Given the description of an element on the screen output the (x, y) to click on. 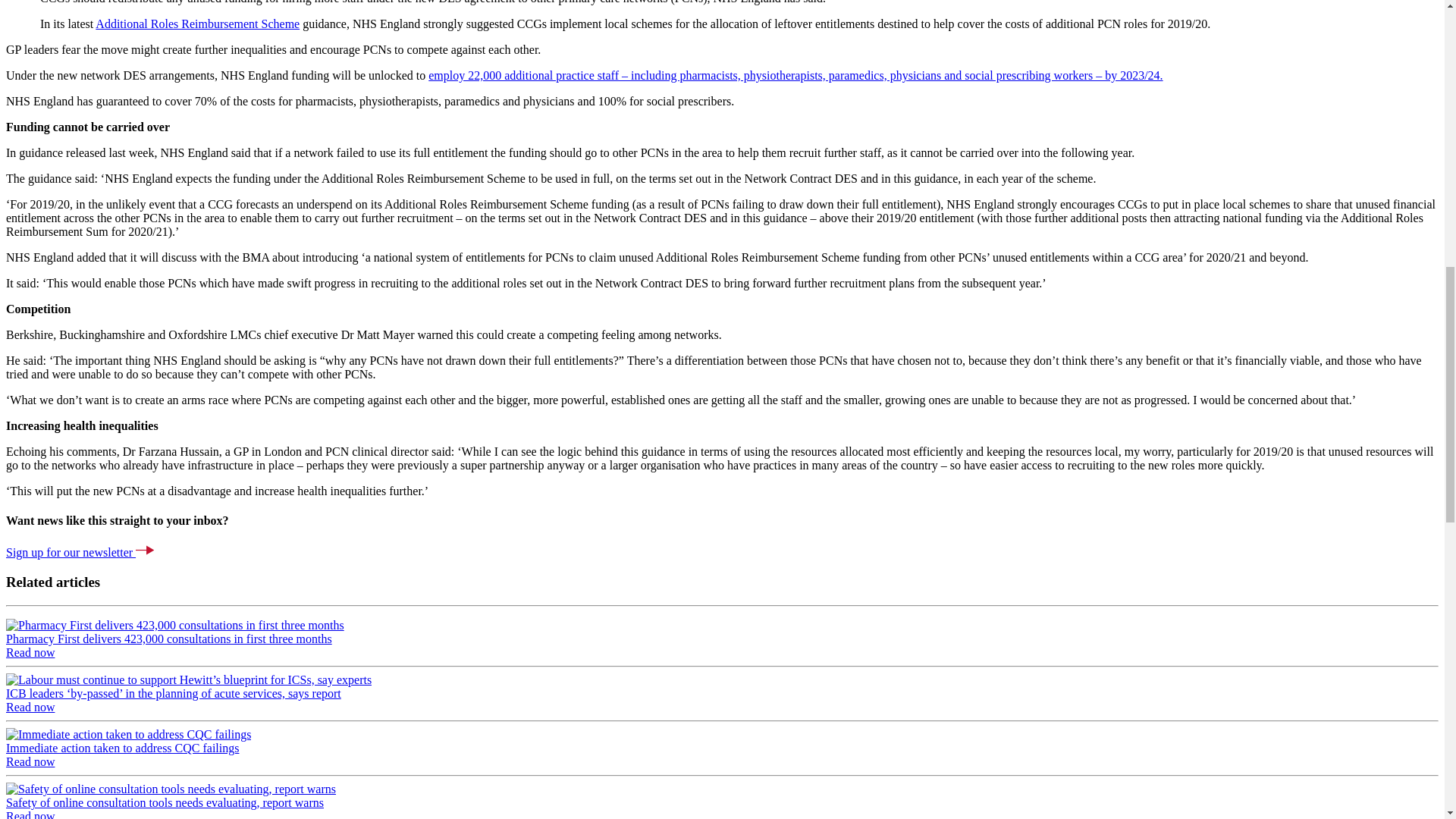
Additional Roles Reimbursement Scheme (197, 23)
Sign up for our bulletins (70, 552)
Sign up for our newsletter (70, 552)
